Given the description of an element on the screen output the (x, y) to click on. 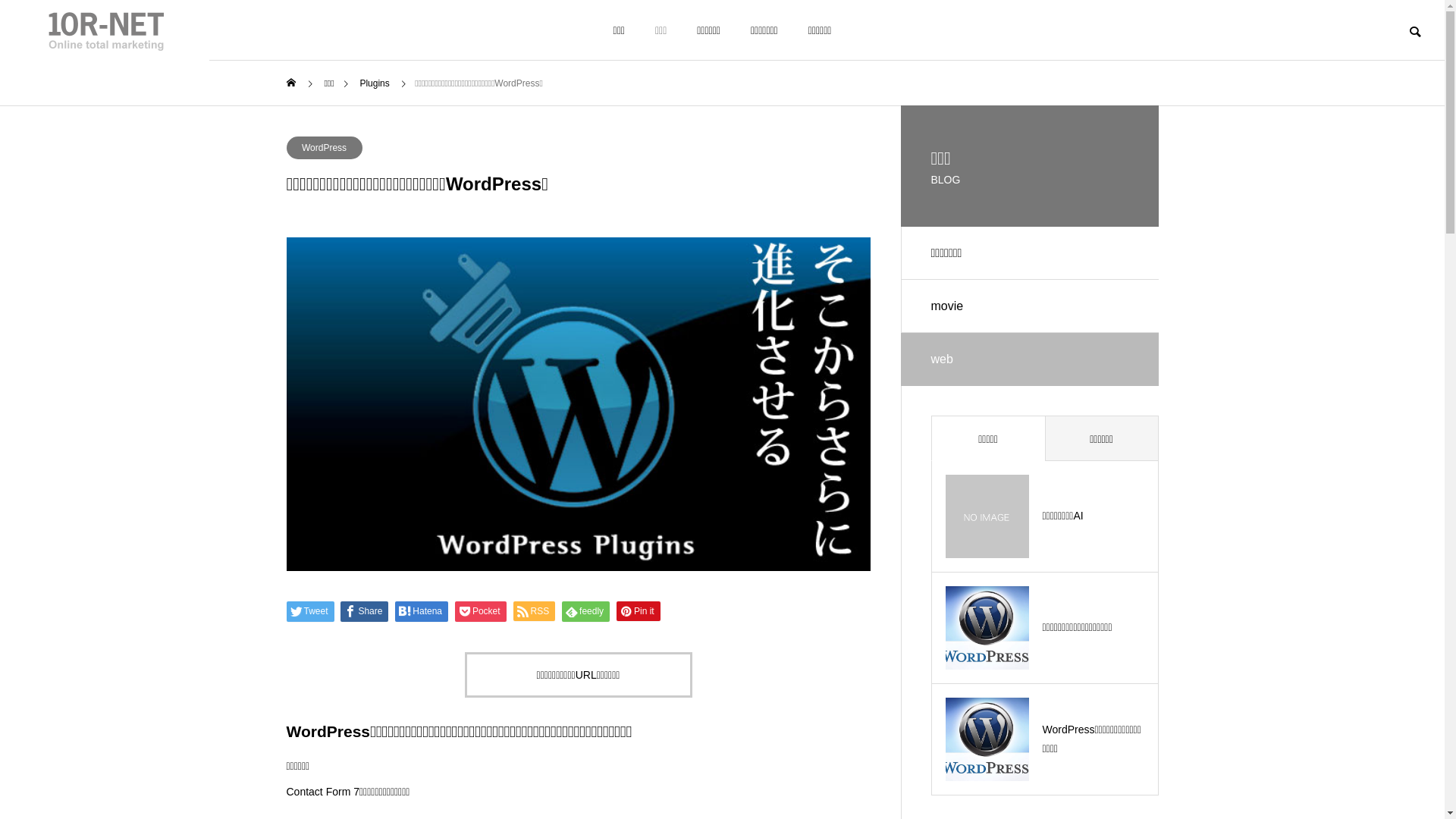
web Element type: text (1029, 358)
movie Element type: text (1029, 305)
Hatena Element type: text (421, 611)
Tweet Element type: text (310, 611)
feedly Element type: text (585, 611)
RSS Element type: text (533, 611)
WordPress Element type: text (324, 147)
Share Element type: text (364, 611)
Plugins Element type: text (374, 82)
Pin it Element type: text (638, 611)
Pocket Element type: text (480, 611)
